Given the description of an element on the screen output the (x, y) to click on. 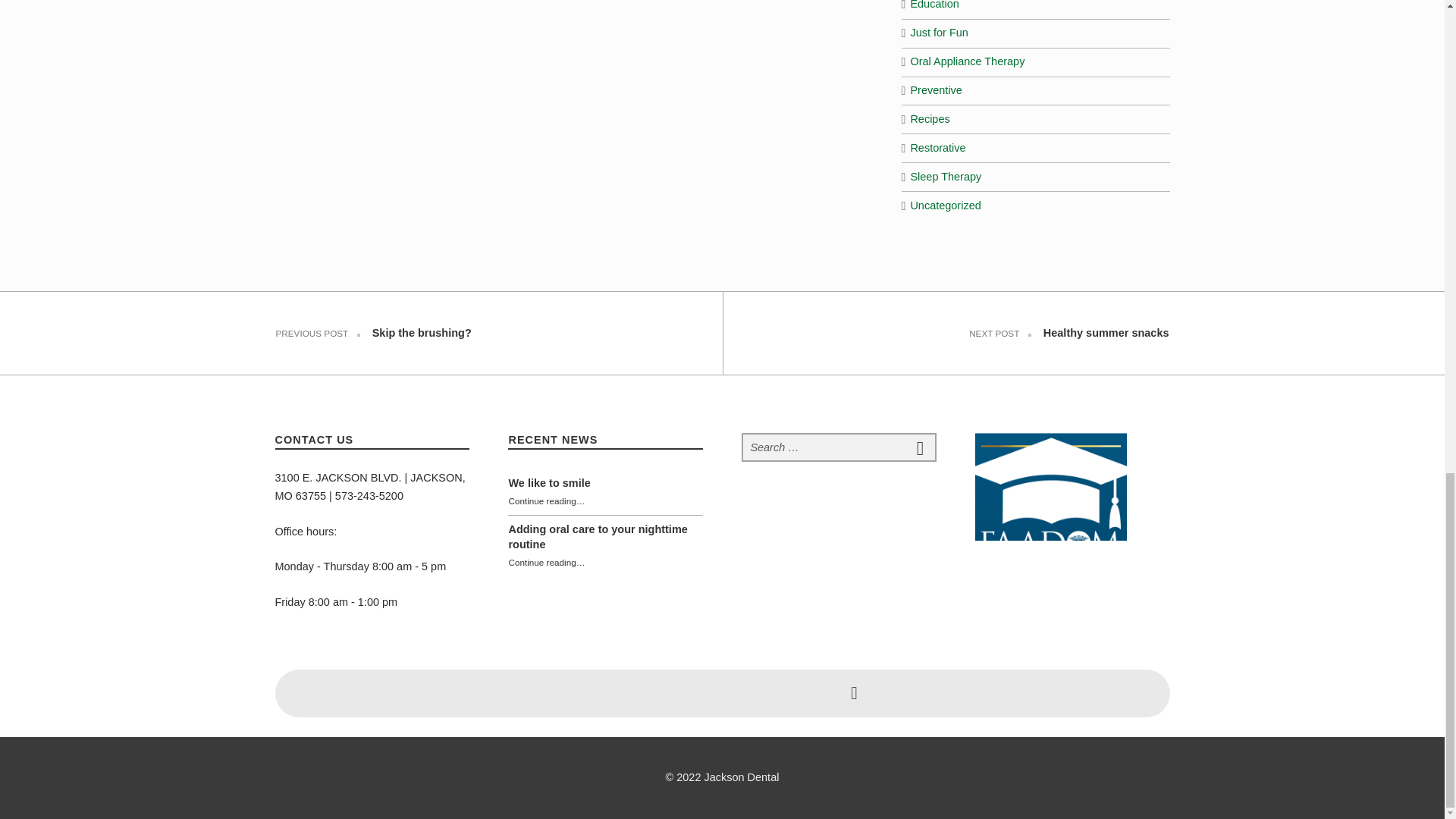
Search (920, 447)
Search (920, 447)
Back to top (854, 693)
